Given the description of an element on the screen output the (x, y) to click on. 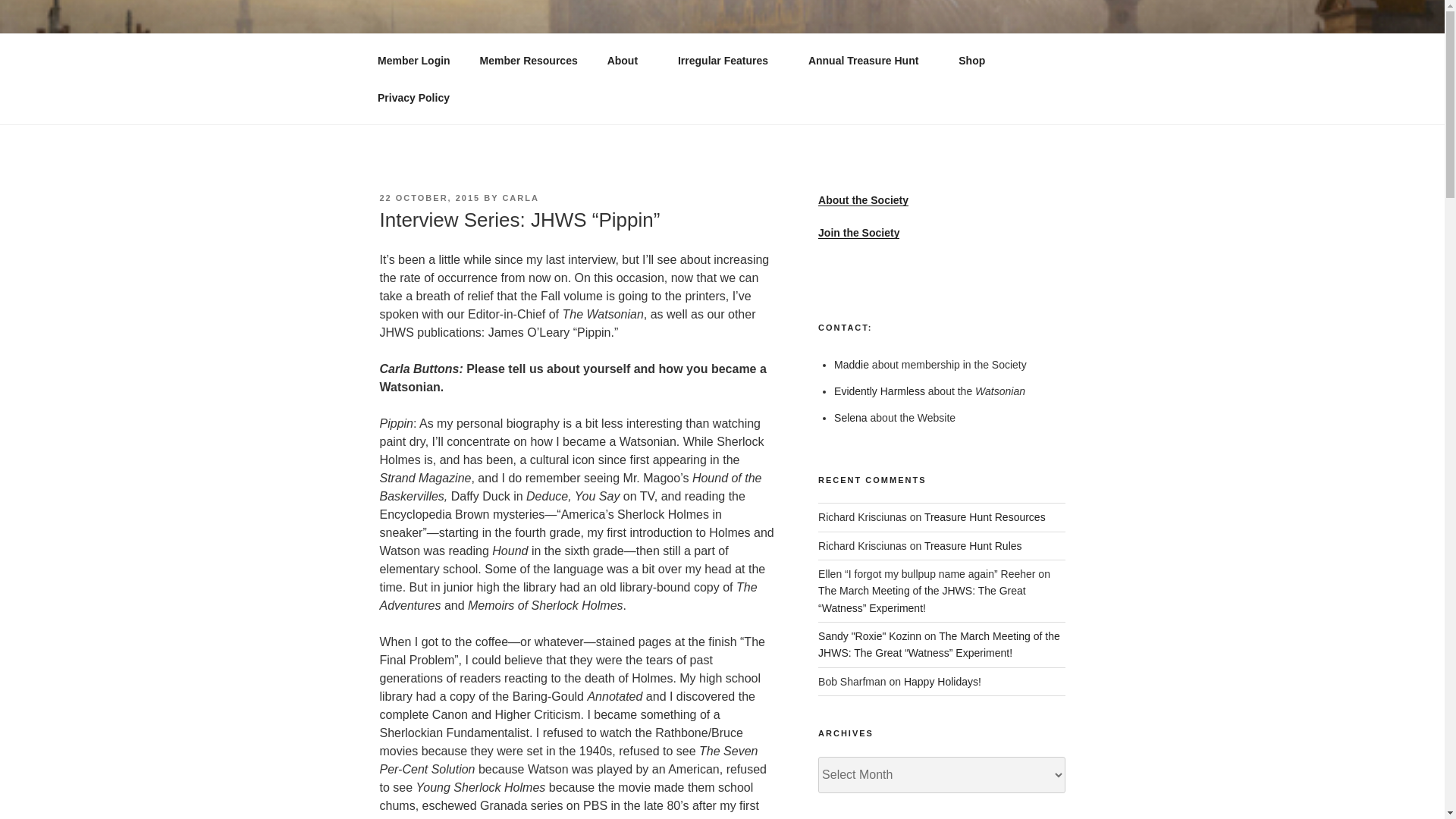
Selena (850, 417)
Evidently Harmless (879, 390)
THE JOHN H WATSON SOCIETY (614, 52)
Member Login (413, 60)
Shop (976, 60)
About (627, 60)
Maddie (851, 364)
Privacy Policy (413, 97)
CARLA (520, 197)
Annual Treasure Hunt (868, 60)
